Given the description of an element on the screen output the (x, y) to click on. 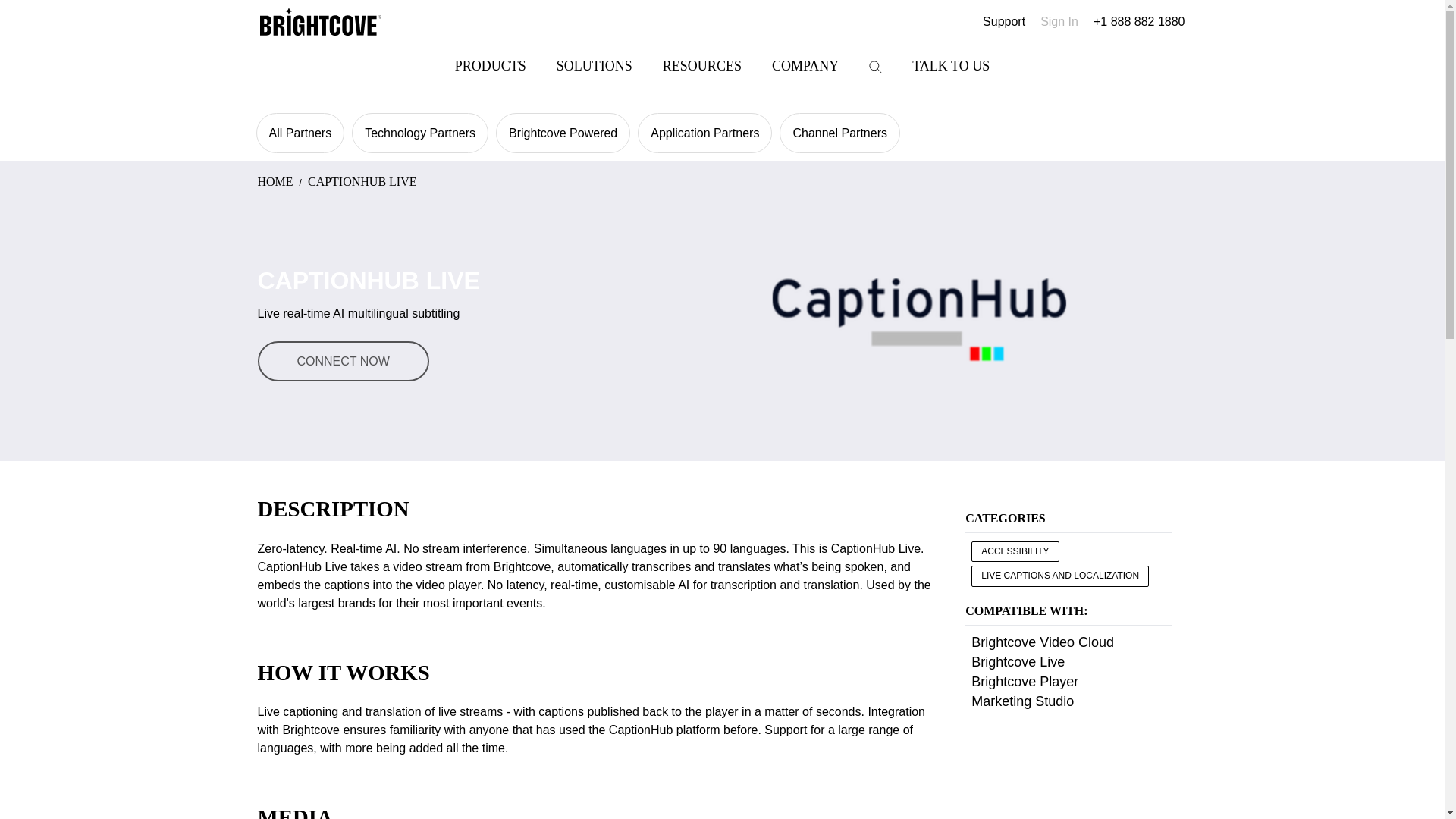
SEARCH ICON A MAGNIFYING GLASS ICON. (875, 66)
Support (1003, 21)
Sign In (1059, 21)
